Given the description of an element on the screen output the (x, y) to click on. 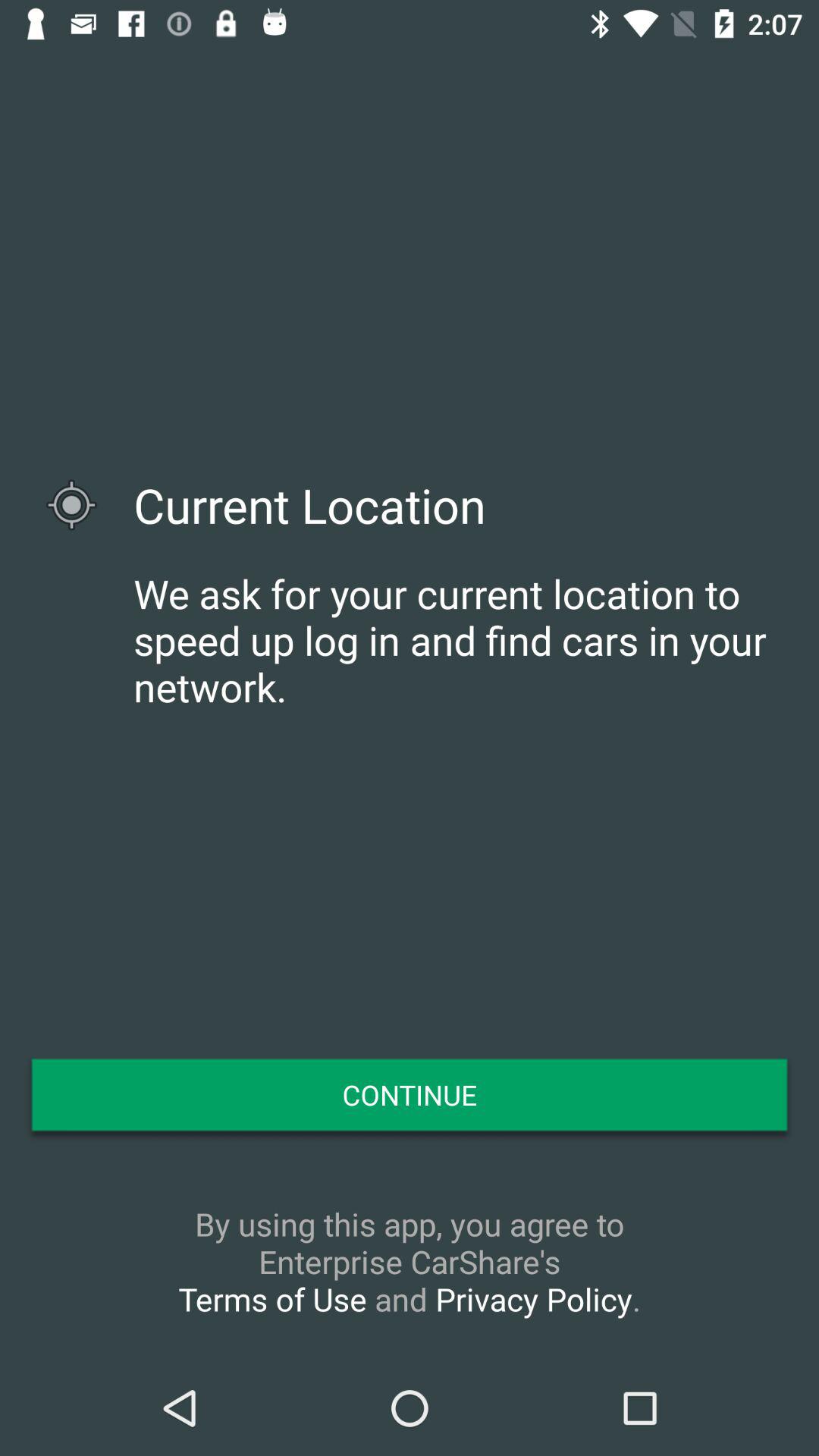
flip until by using this item (409, 1261)
